Given the description of an element on the screen output the (x, y) to click on. 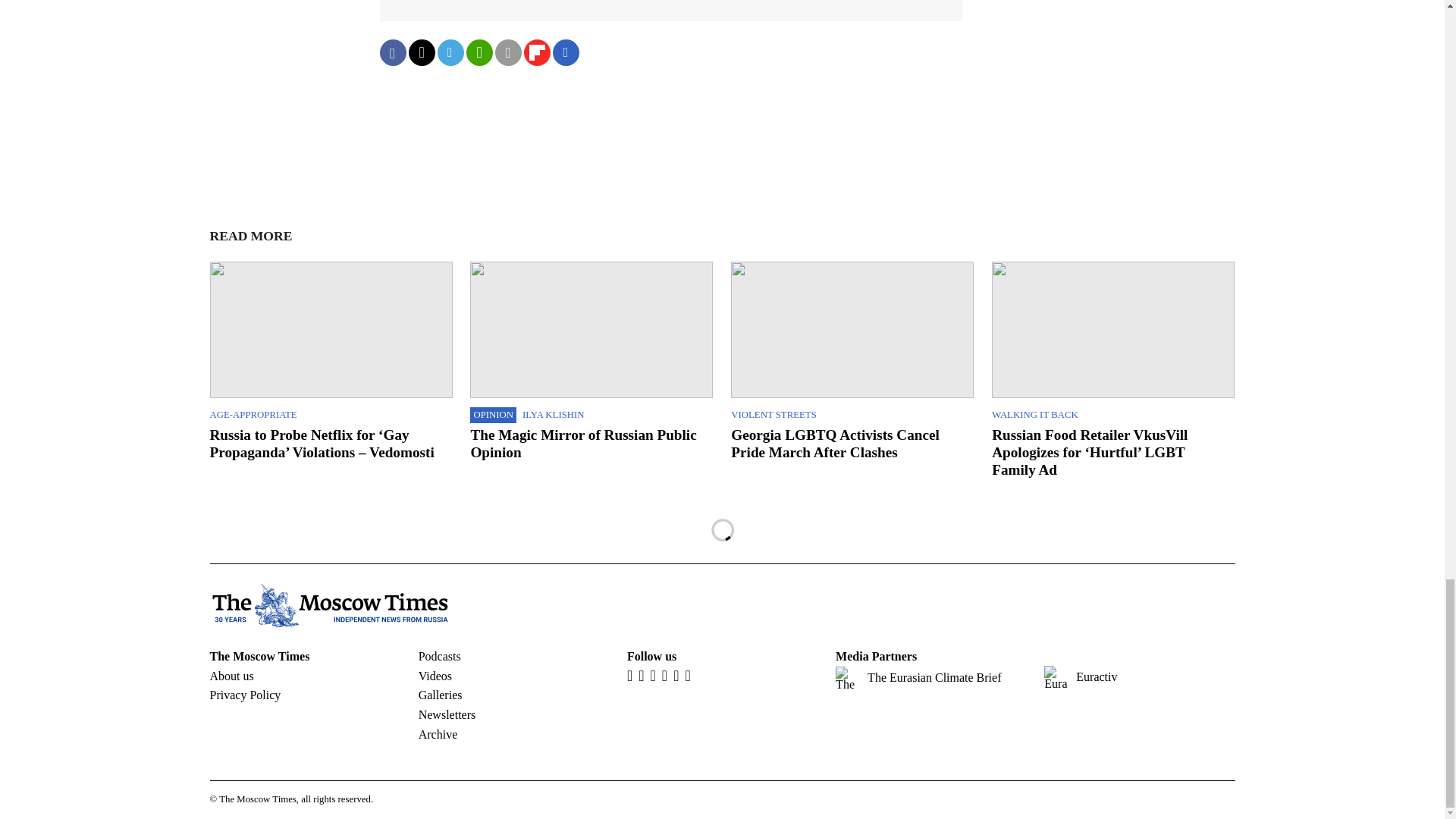
Share on Flipboard (536, 52)
Share on Twitter (420, 52)
Share on Facebook (392, 52)
Share on Telegram (449, 52)
